Given the description of an element on the screen output the (x, y) to click on. 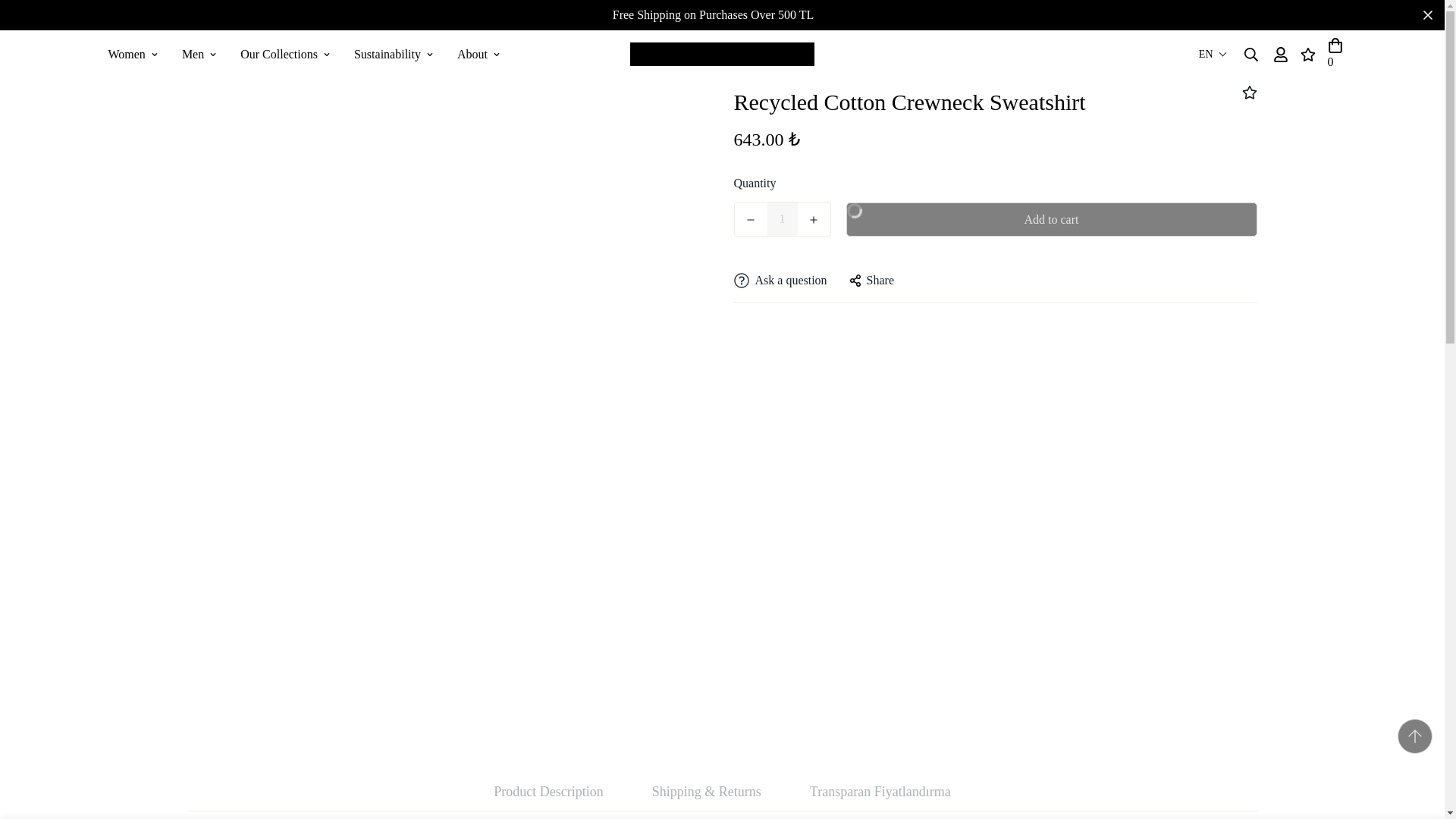
Back to the home page (595, 51)
Nublik (721, 54)
1 (782, 218)
Men (199, 53)
Women (303, 53)
